Given the description of an element on the screen output the (x, y) to click on. 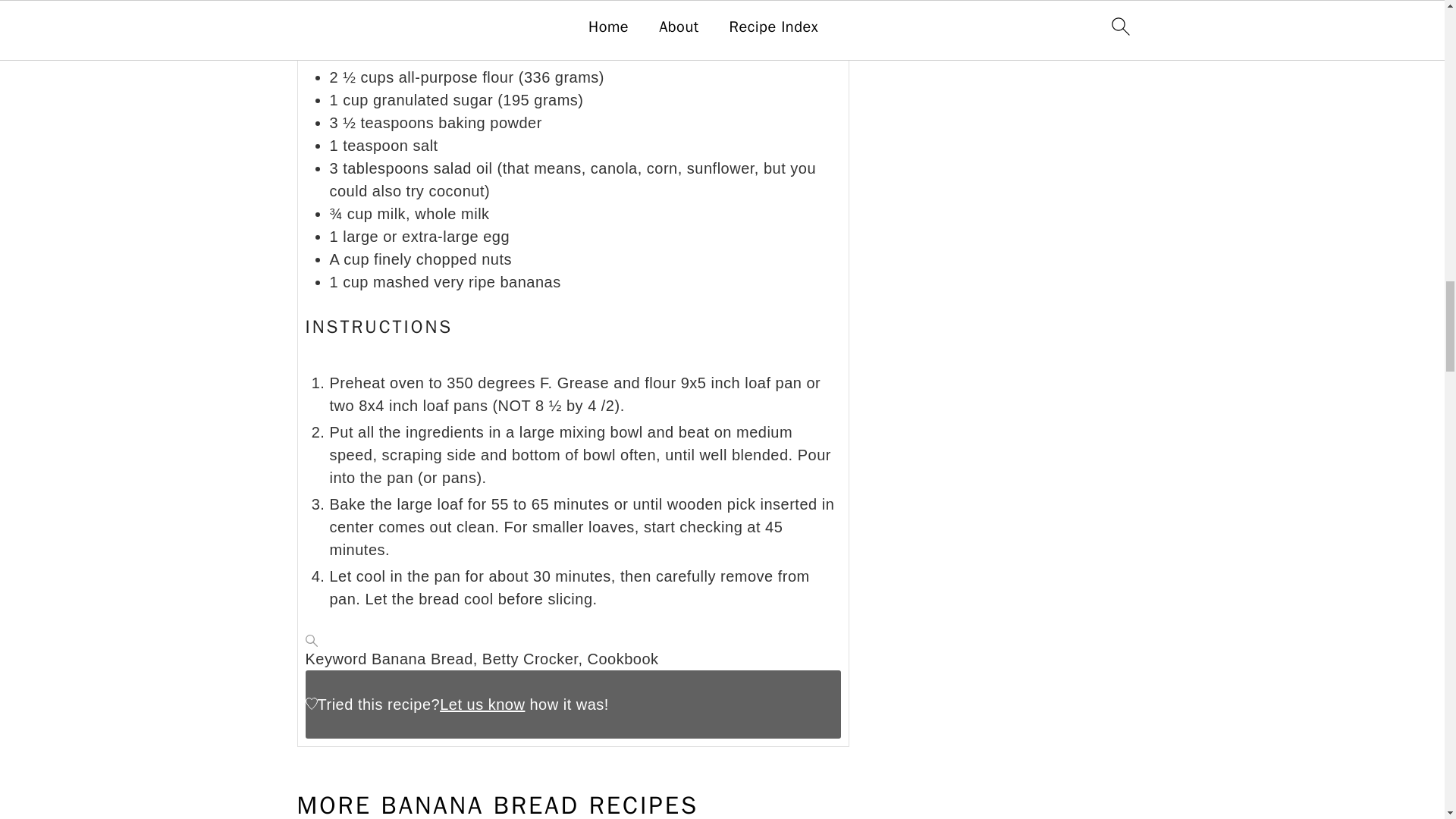
Let us know (481, 704)
